Given the description of an element on the screen output the (x, y) to click on. 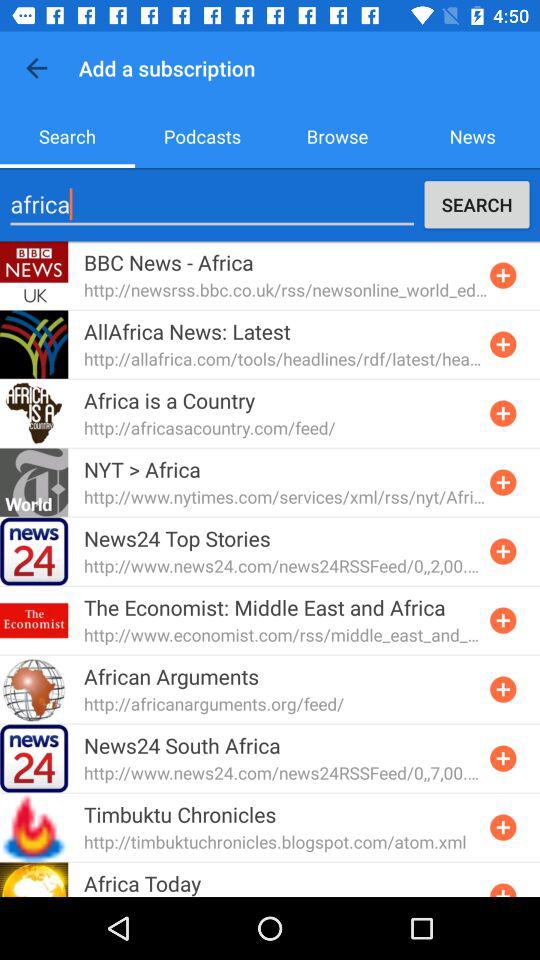
tap the news24 south africa item (182, 745)
